Given the description of an element on the screen output the (x, y) to click on. 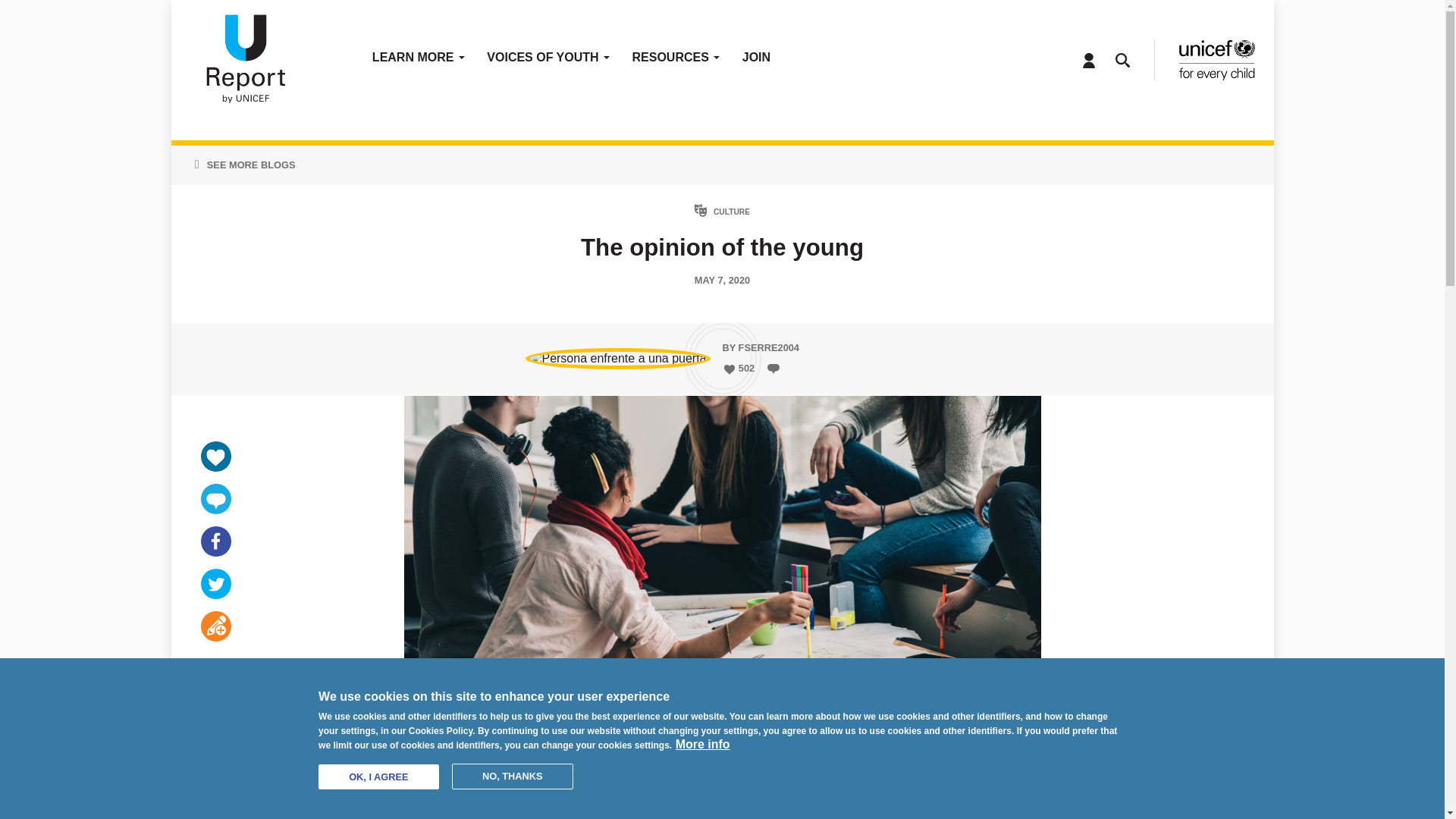
FSERRE2004 (768, 346)
Image (244, 60)
SEE MORE BLOGS (250, 165)
VOICES OF YOUTH (548, 60)
Comments (215, 499)
RESOURCES (675, 60)
Search (1123, 60)
Like (728, 368)
Post (215, 625)
